Given the description of an element on the screen output the (x, y) to click on. 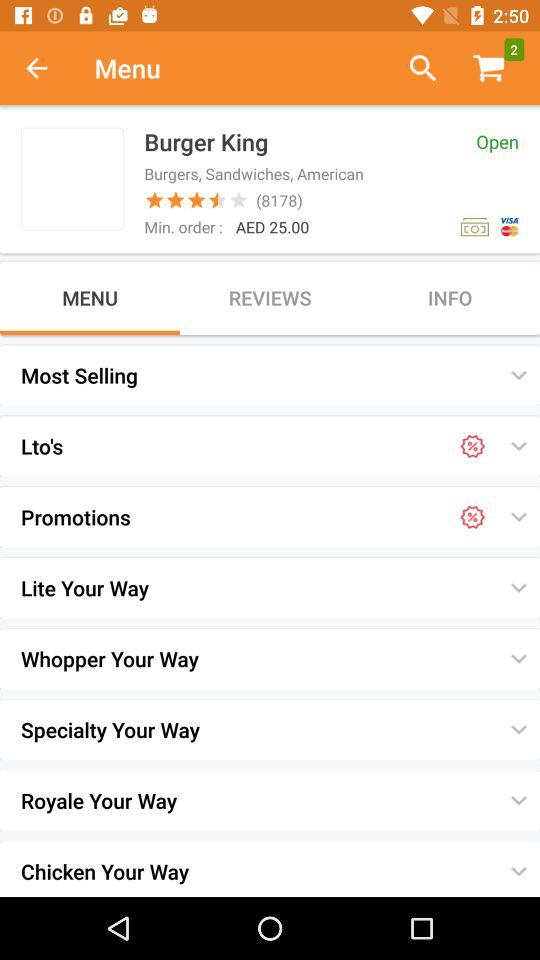
search (414, 68)
